Given the description of an element on the screen output the (x, y) to click on. 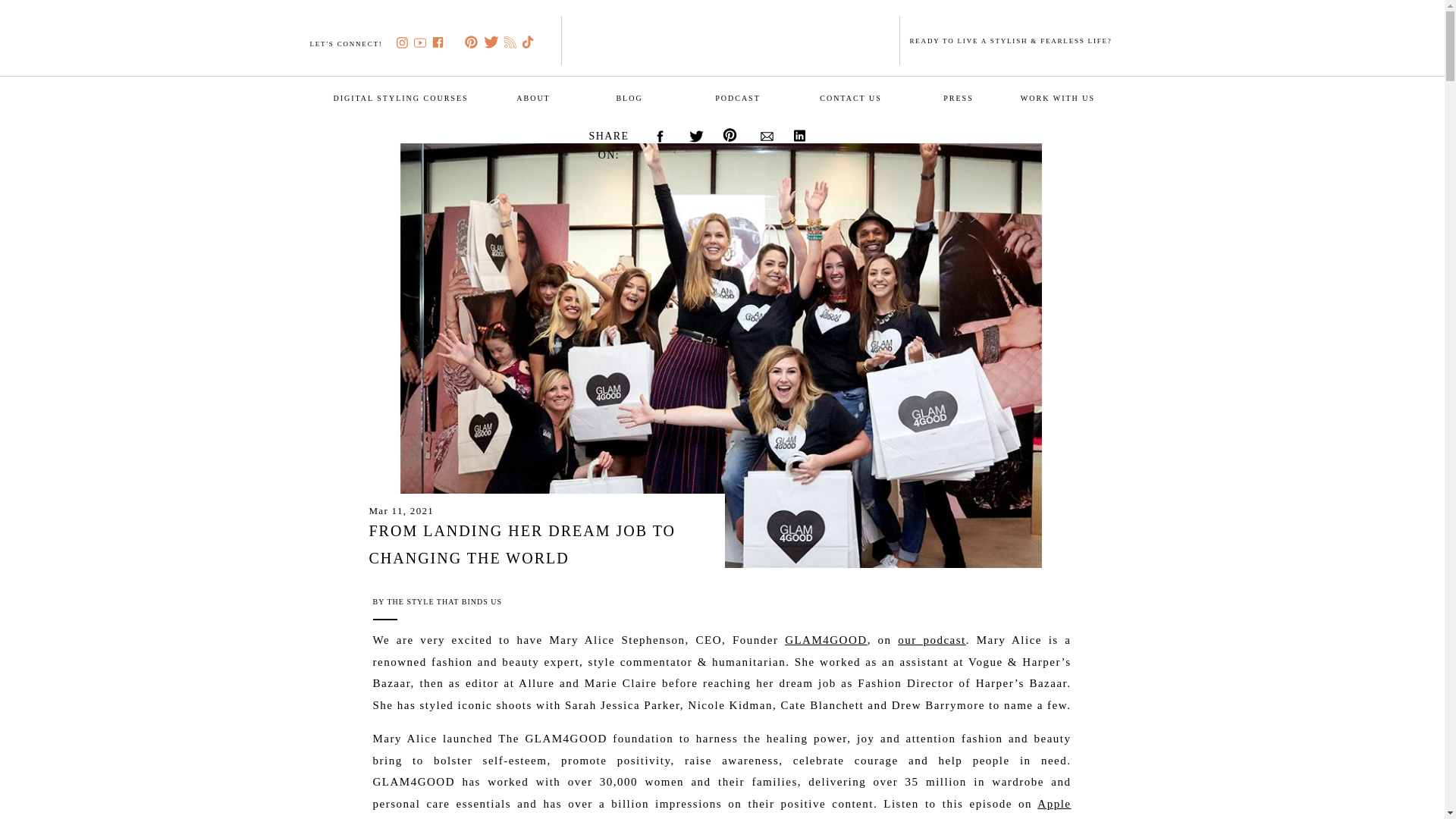
Facebook Copy-color Created with Sketch. (438, 42)
WORK WITH US (1057, 96)
PRESS (957, 96)
Instagram-color Created with Sketch. (401, 42)
DIGITAL STYLING COURSES (400, 96)
Facebook Copy-color Created with Sketch. (438, 42)
ABOUT (532, 96)
BLOG (628, 96)
CONTACT US (849, 96)
LET'S CONNECT! (348, 42)
